Given the description of an element on the screen output the (x, y) to click on. 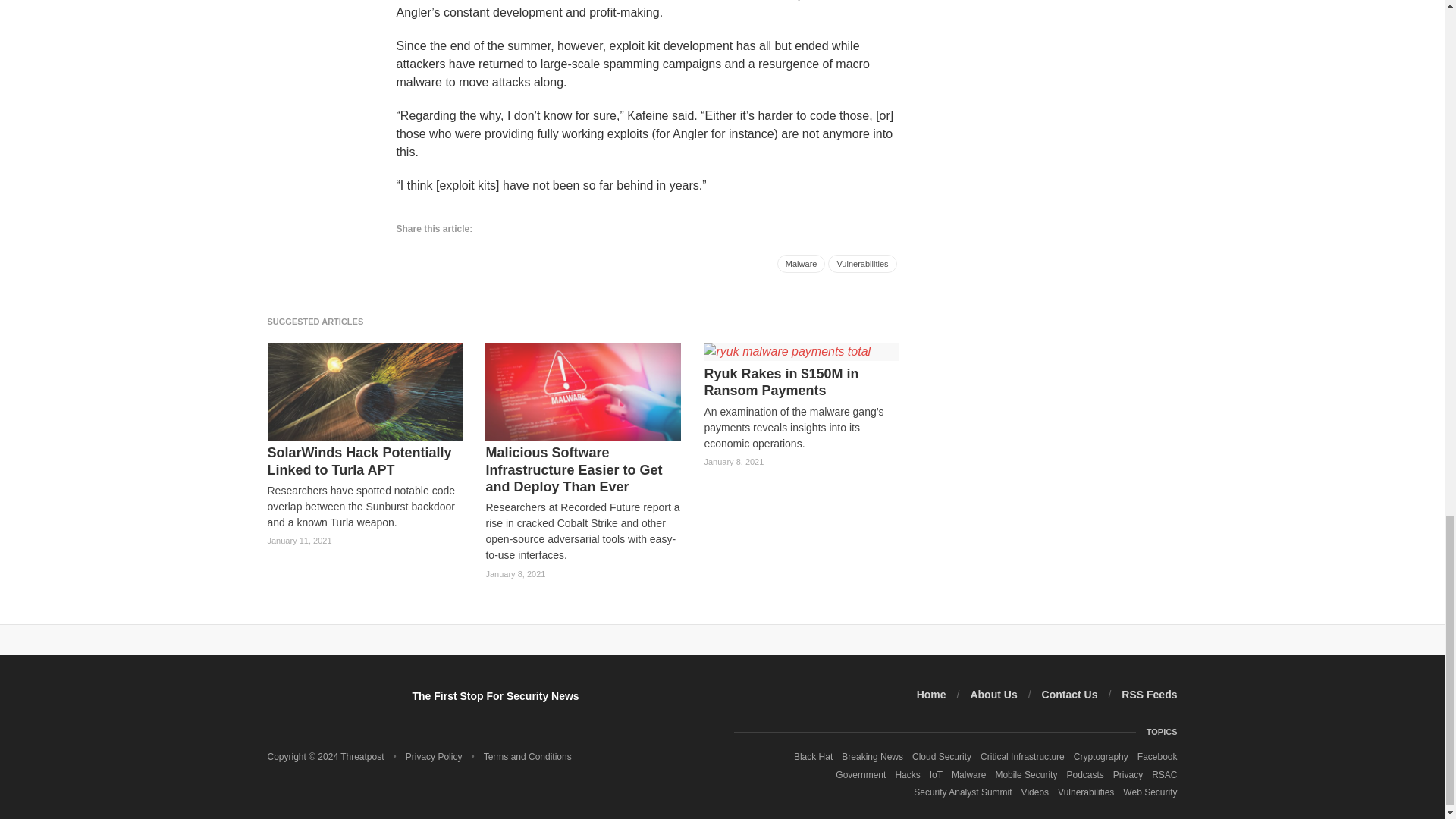
Vulnerabilities (862, 263)
SUGGESTED ARTICLES (319, 320)
SolarWinds Hack Potentially Linked to Turla APT (364, 461)
Malware (801, 263)
